Given the description of an element on the screen output the (x, y) to click on. 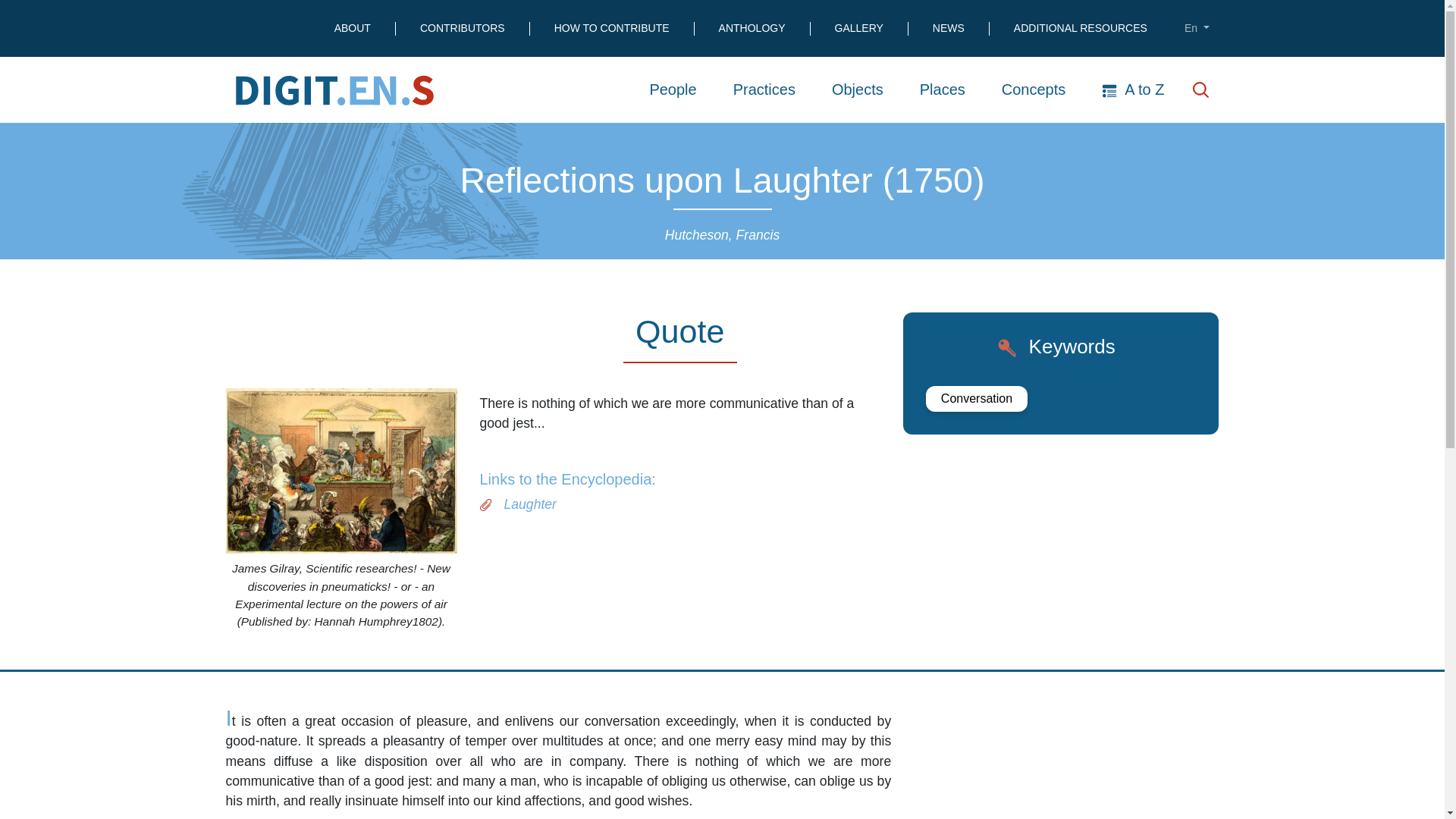
ANTHOLOGY (764, 28)
Home (338, 90)
Practices (763, 89)
HOW TO CONTRIBUTE (623, 28)
CONTRIBUTORS (474, 28)
Search (1201, 89)
Conversation (976, 398)
NEWS (960, 28)
ABOUT (364, 28)
People (672, 89)
En (1197, 28)
Objects (857, 89)
ADDITIONAL RESOURCES (1079, 28)
A to Z (1132, 89)
